Given the description of an element on the screen output the (x, y) to click on. 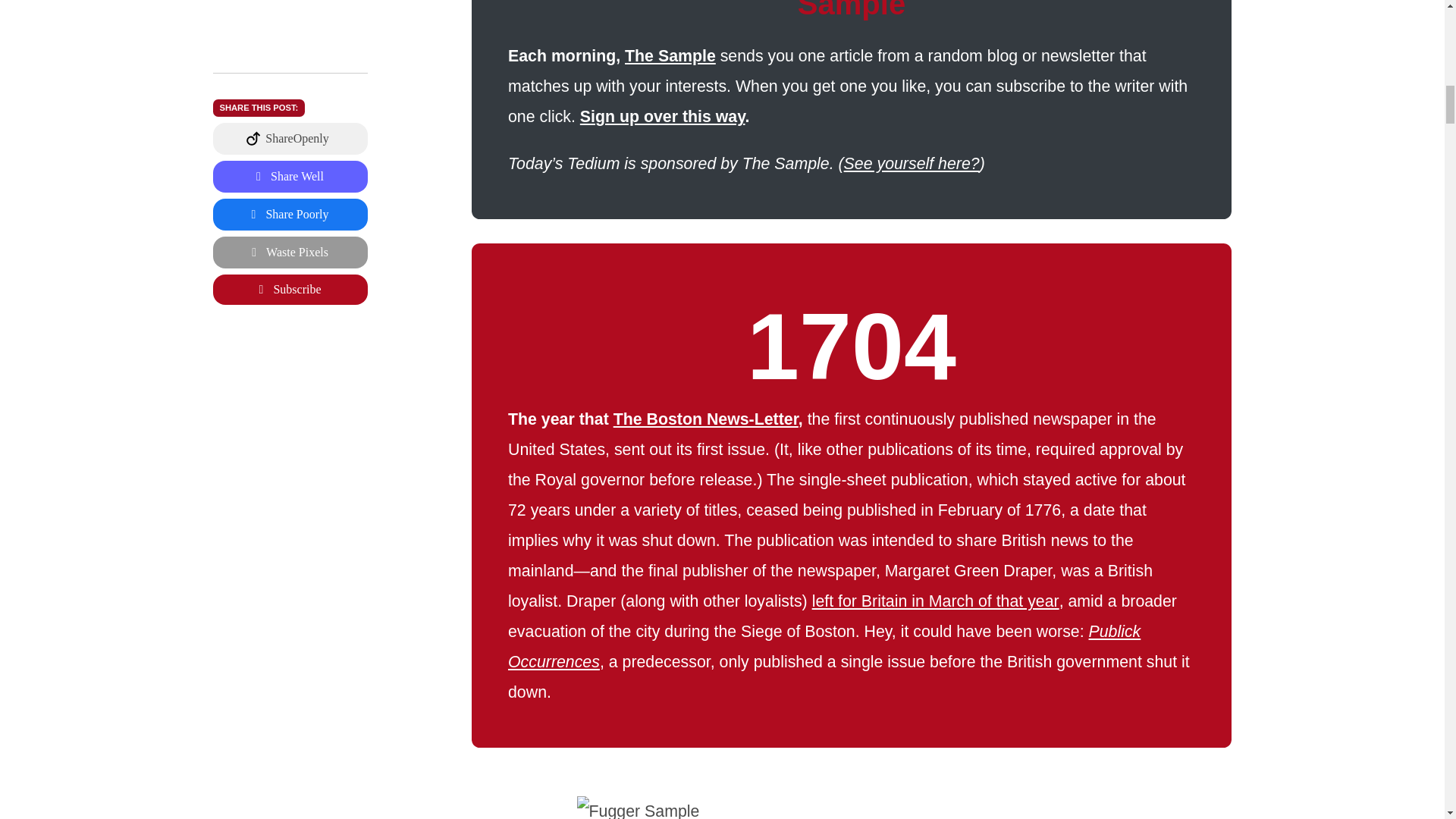
Publick Occurrences (824, 646)
Sign up over this way (662, 116)
The Sample (671, 55)
left for Britain in March of that year (935, 601)
See yourself here? (911, 163)
The Boston News-Letter (704, 419)
